Given the description of an element on the screen output the (x, y) to click on. 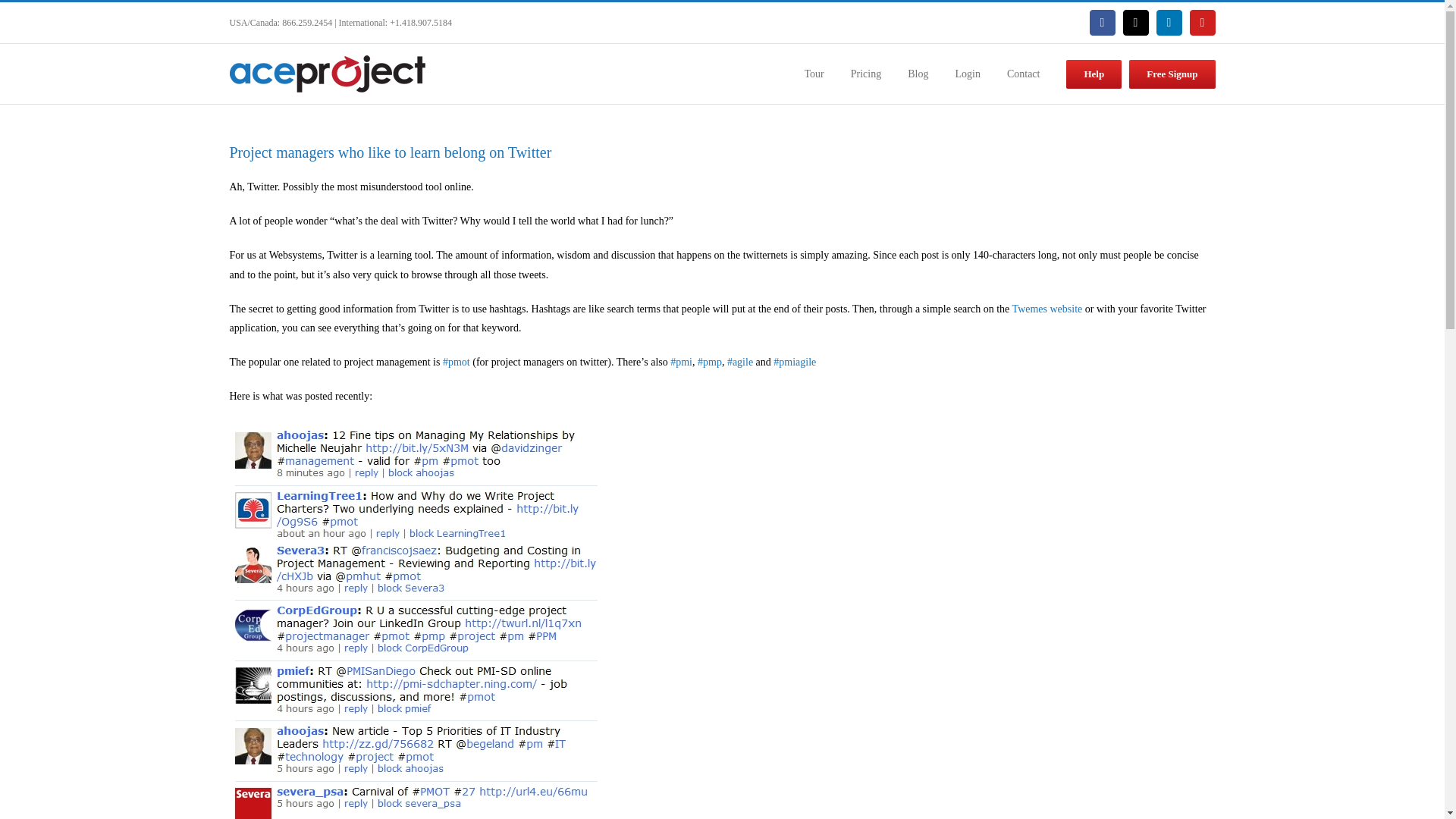
X (1135, 22)
Twemes website (1047, 308)
YouTube (1201, 22)
Facebook (1102, 22)
Help (1093, 73)
LinkedIn (1168, 22)
Facebook (1102, 22)
Free Signup (1171, 73)
LinkedIn (1168, 22)
YouTube (1201, 22)
